Given the description of an element on the screen output the (x, y) to click on. 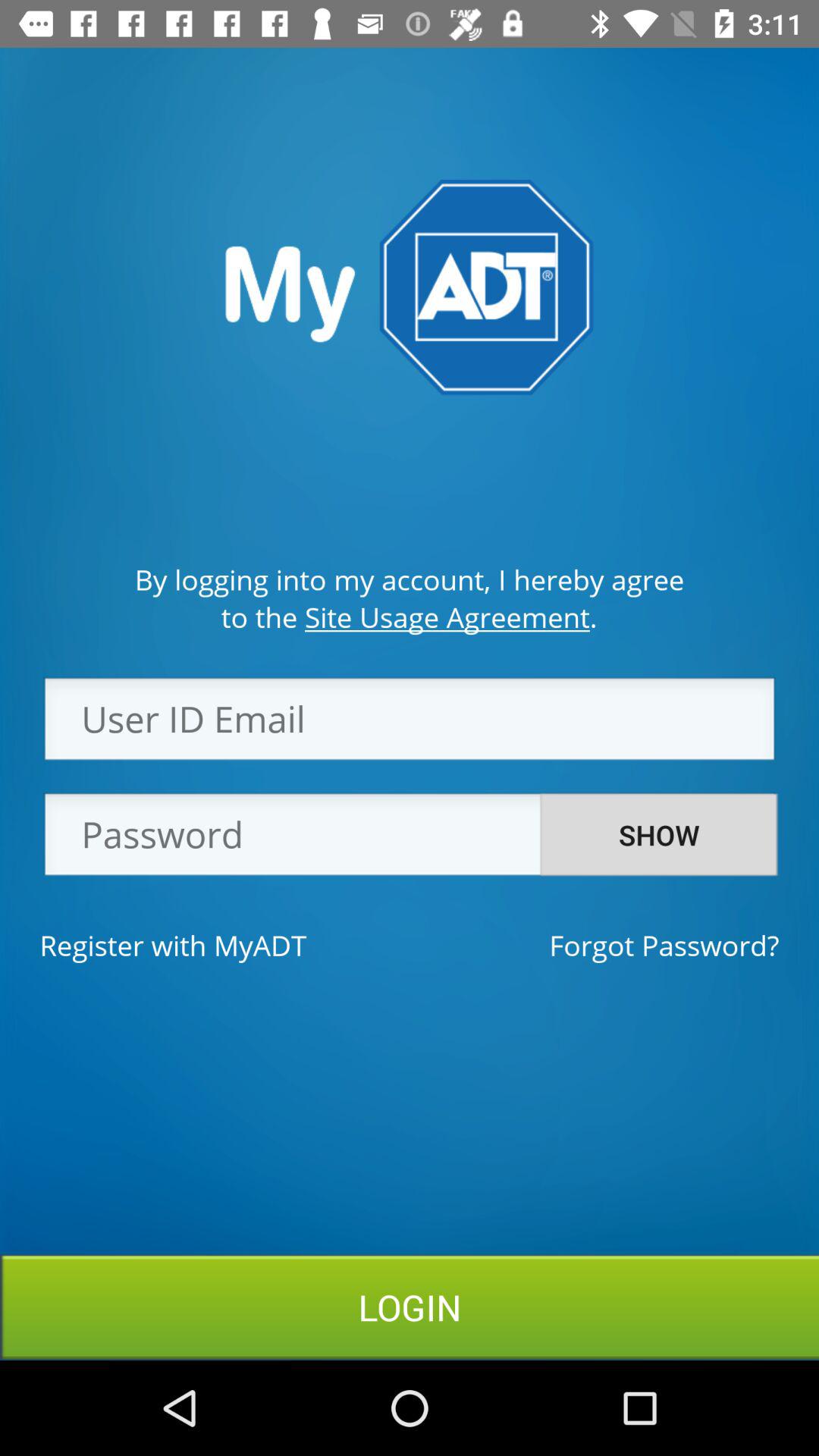
press the forgot password? icon (664, 945)
